Given the description of an element on the screen output the (x, y) to click on. 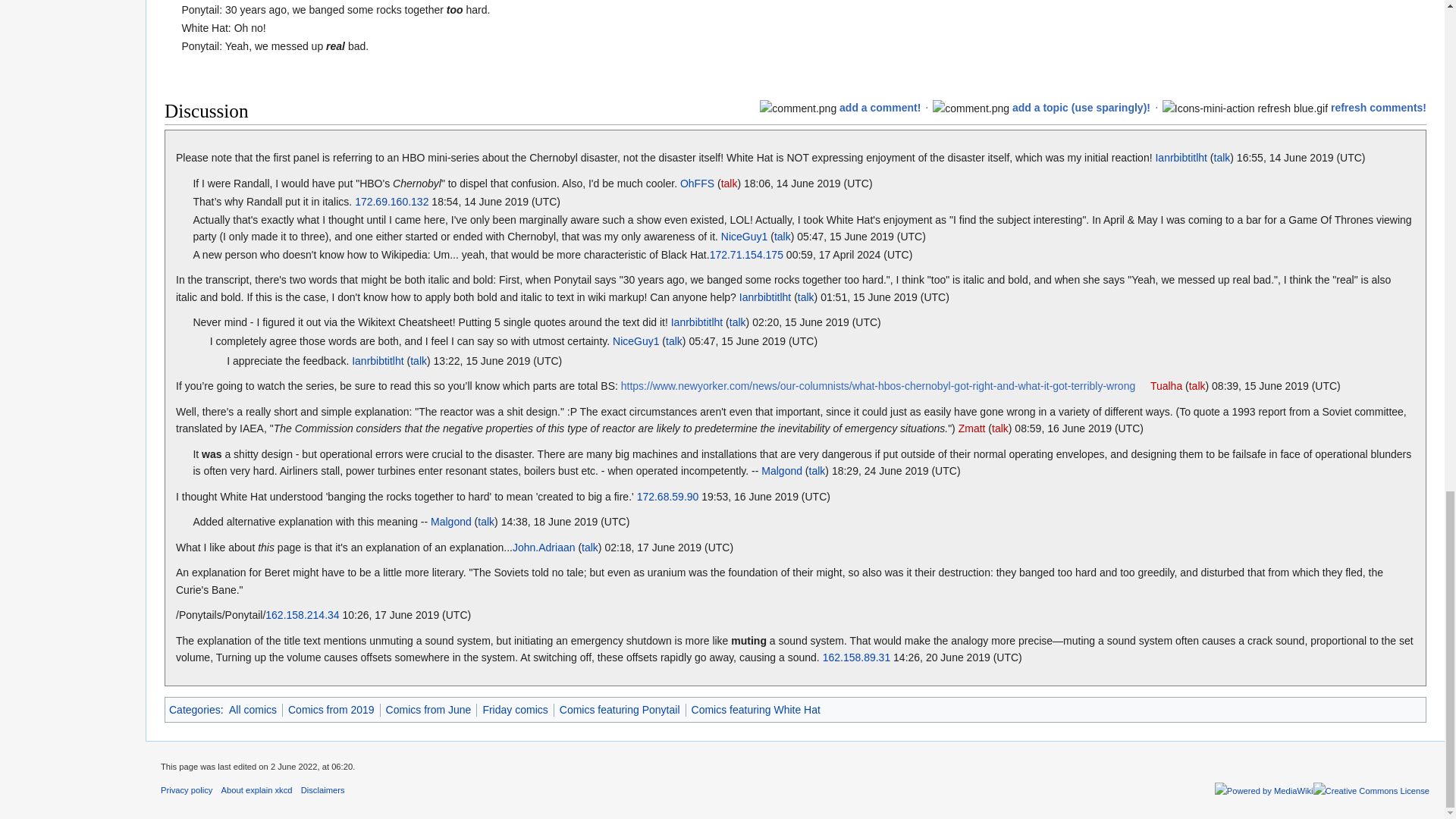
talk (673, 340)
add a comment! (880, 107)
OhFFS (696, 183)
refresh comments! (1378, 107)
Zmatt (971, 428)
172.69.160.132 (391, 201)
Ianrbibtitlht (764, 297)
talk (418, 360)
NiceGuy1 (743, 236)
Ianrbibtitlht (377, 360)
talk (1221, 157)
User talk:Ianrbibtitlht (1221, 157)
172.71.154.175 (746, 254)
talk (1197, 386)
talk (737, 322)
